Given the description of an element on the screen output the (x, y) to click on. 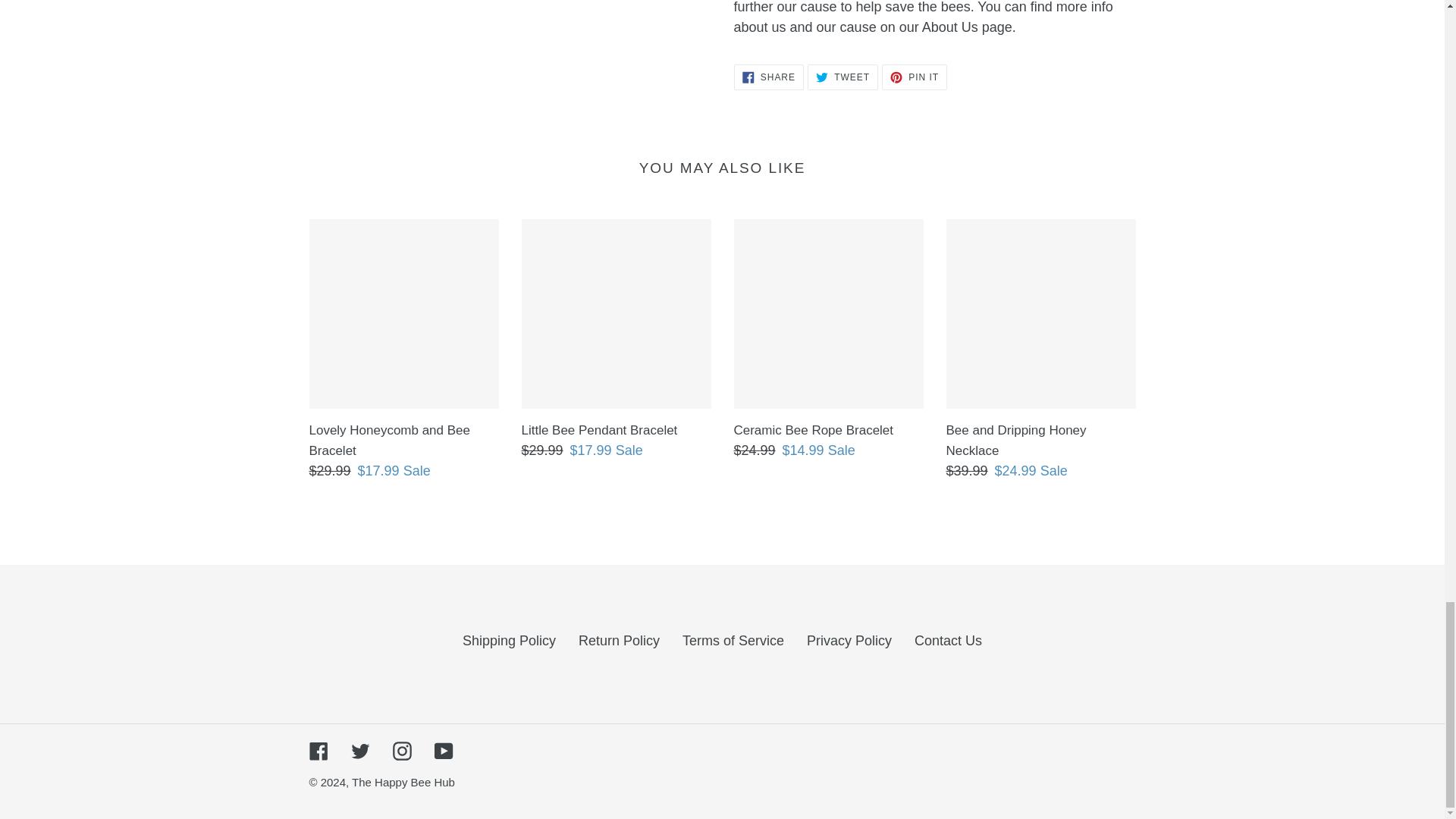
Return Policy (768, 77)
Shipping Policy (842, 77)
